Given the description of an element on the screen output the (x, y) to click on. 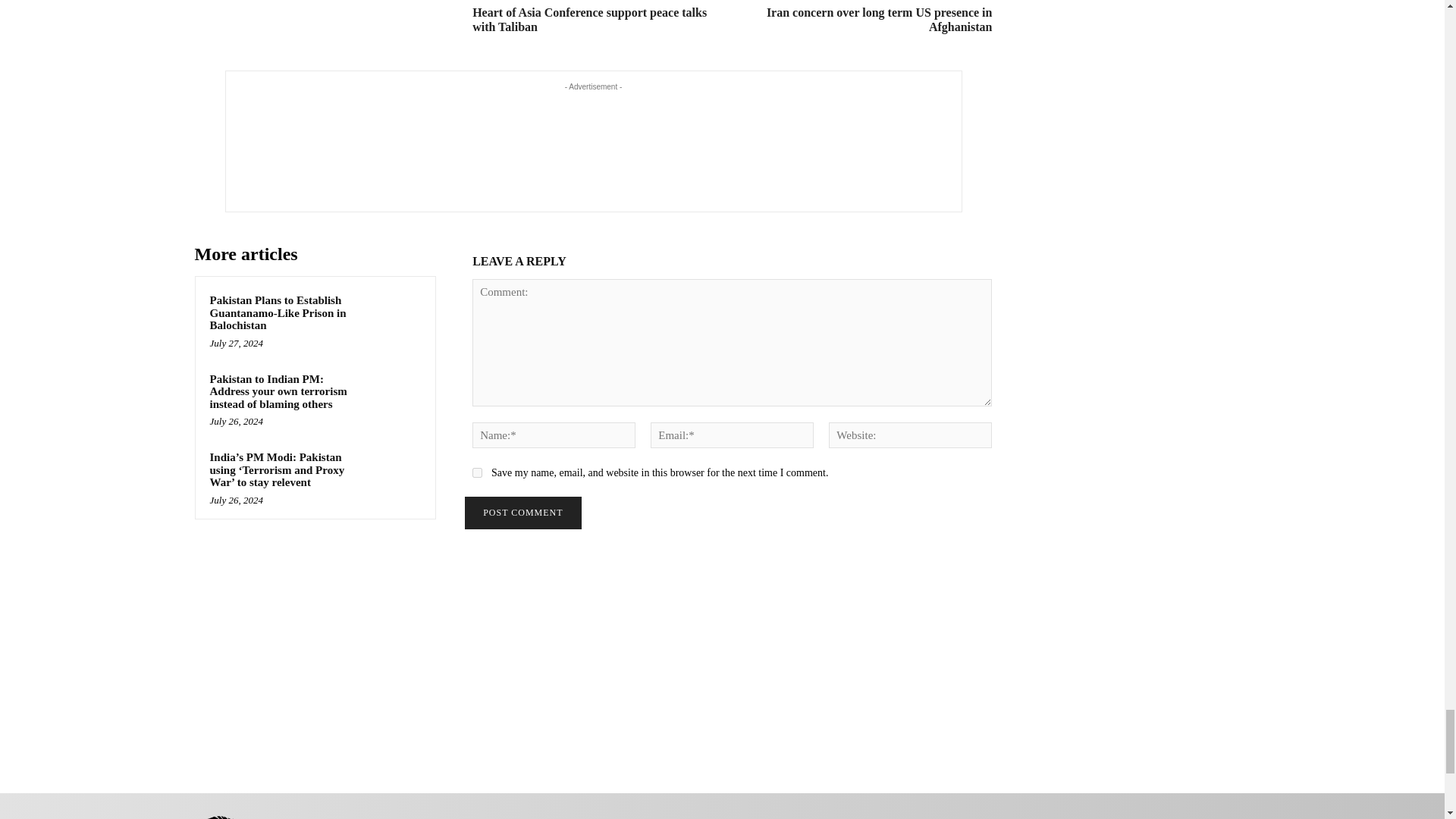
yes (476, 472)
Post Comment (522, 512)
